Given the description of an element on the screen output the (x, y) to click on. 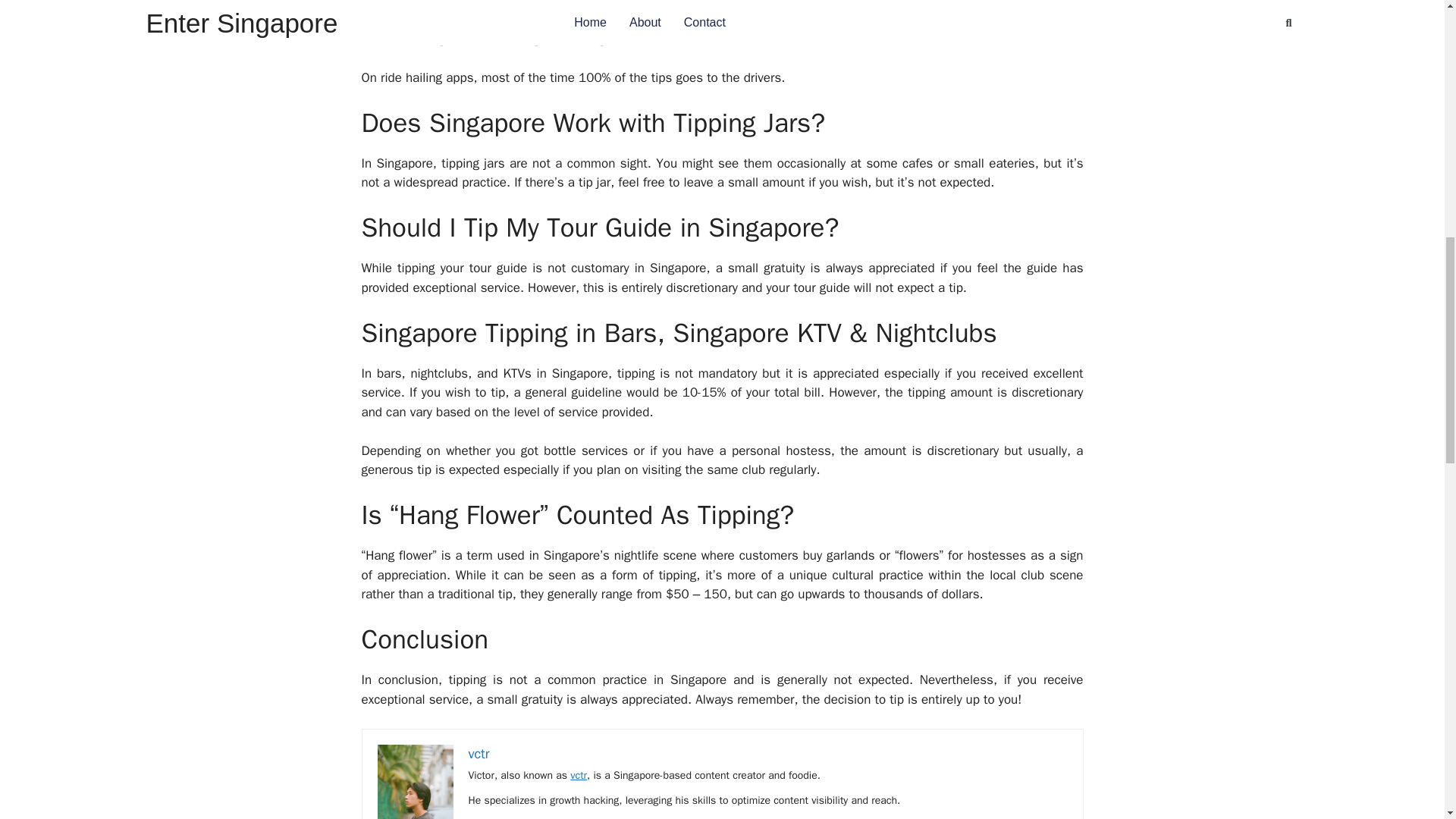
vctr (478, 752)
vctr (578, 775)
